Given the description of an element on the screen output the (x, y) to click on. 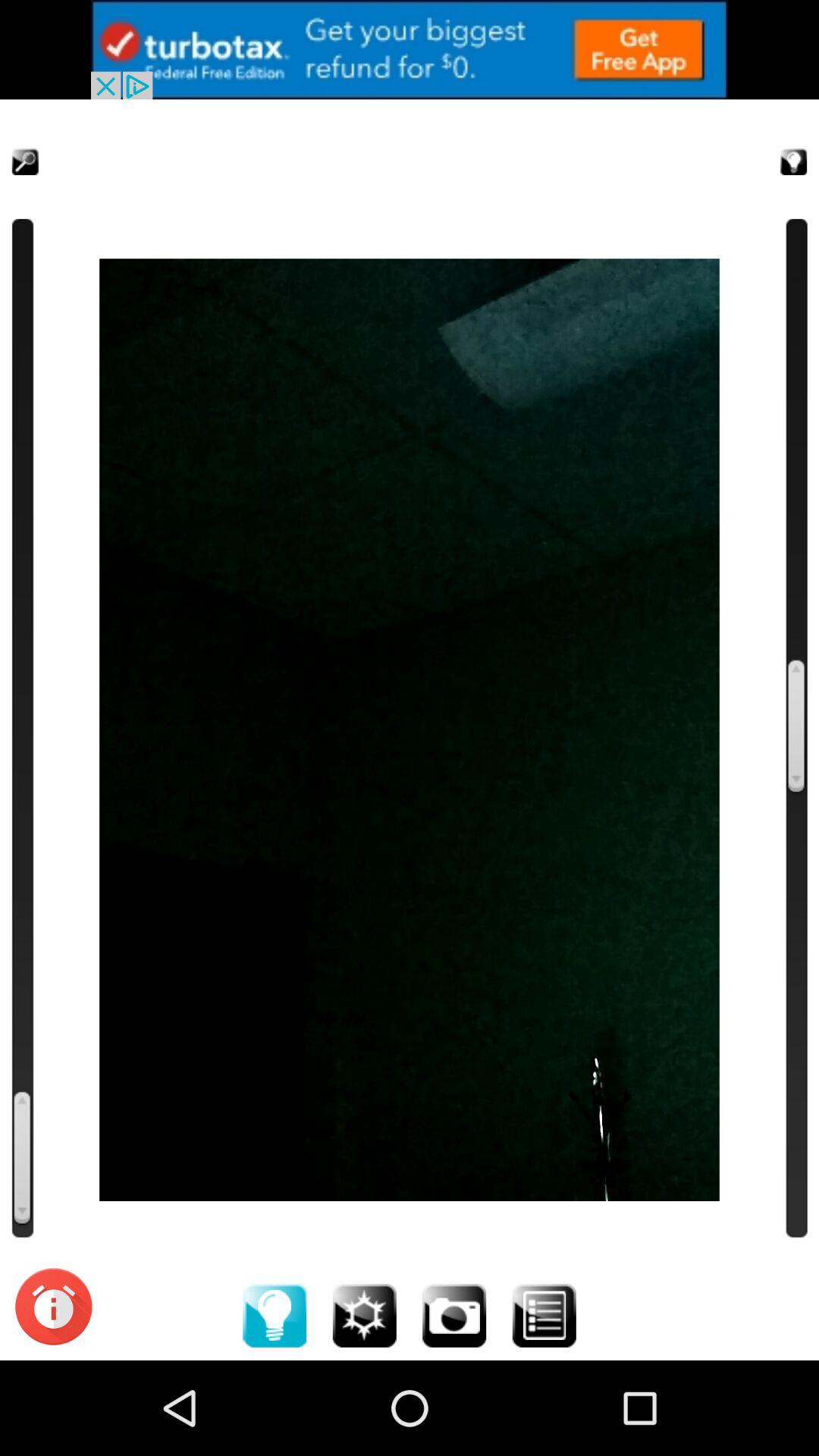
get idea (775, 143)
